Given the description of an element on the screen output the (x, y) to click on. 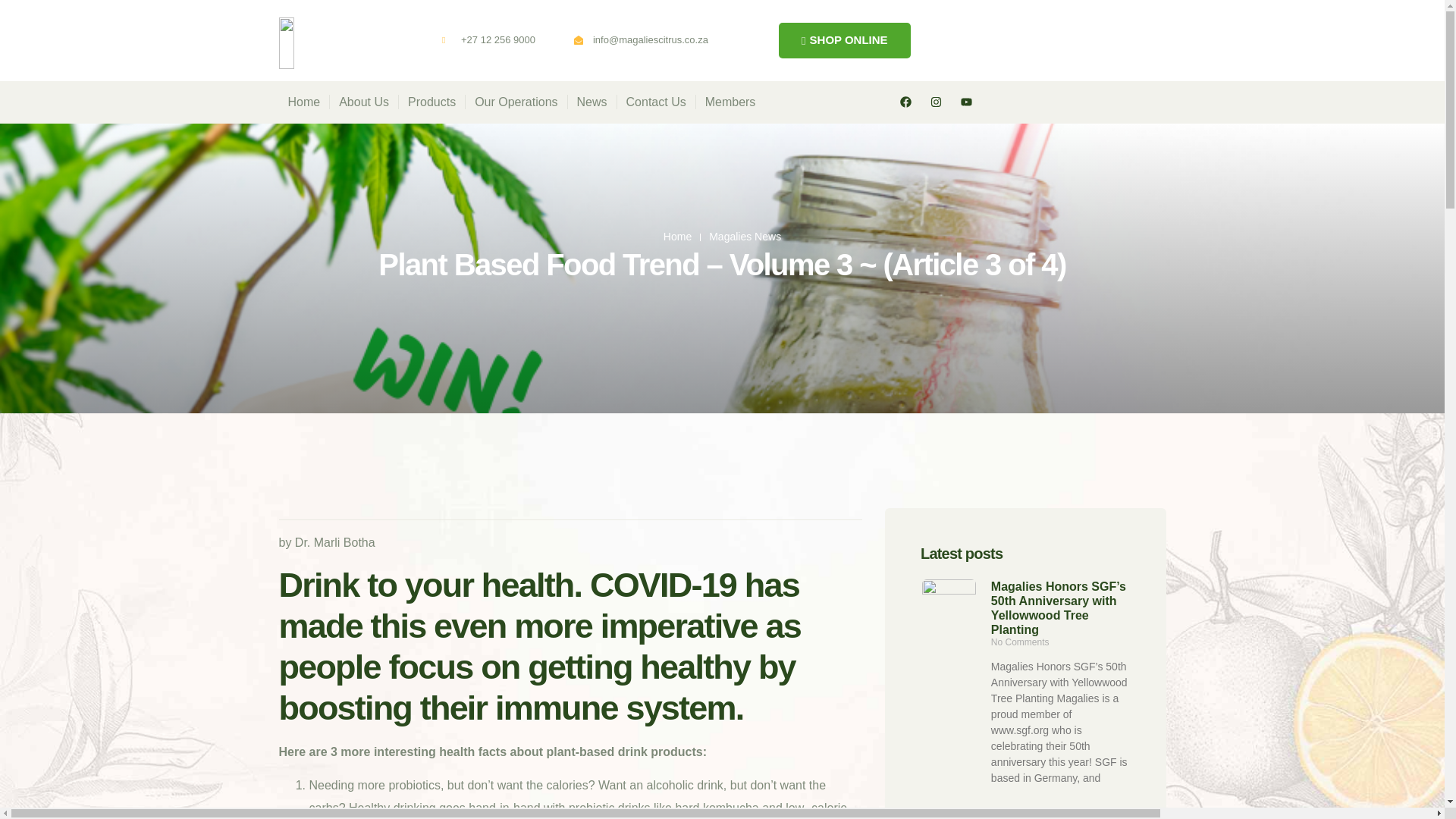
News (591, 102)
SHOP ONLINE (844, 40)
Members (730, 102)
Products (431, 102)
Our Operations (515, 102)
About Us (363, 102)
Home (304, 102)
Contact Us (656, 102)
